Given the description of an element on the screen output the (x, y) to click on. 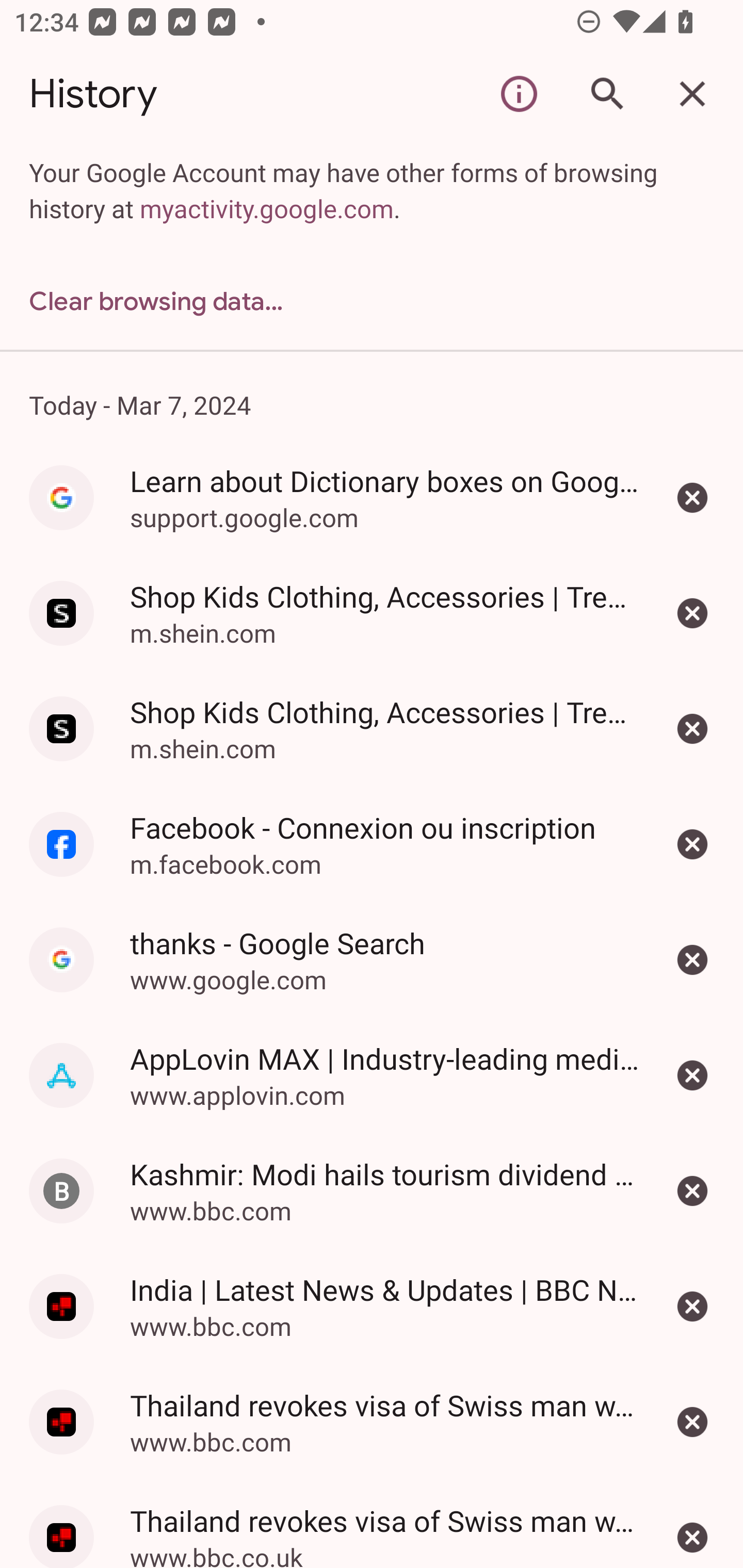
Hide Info (518, 93)
Search (605, 93)
Close (692, 93)
Clear browsing data… (371, 301)
Facebook - Connexion ou inscription Remove (692, 844)
thanks - Google Search Remove (692, 959)
India | Latest News & Updates | BBC News Remove (692, 1306)
